Given the description of an element on the screen output the (x, y) to click on. 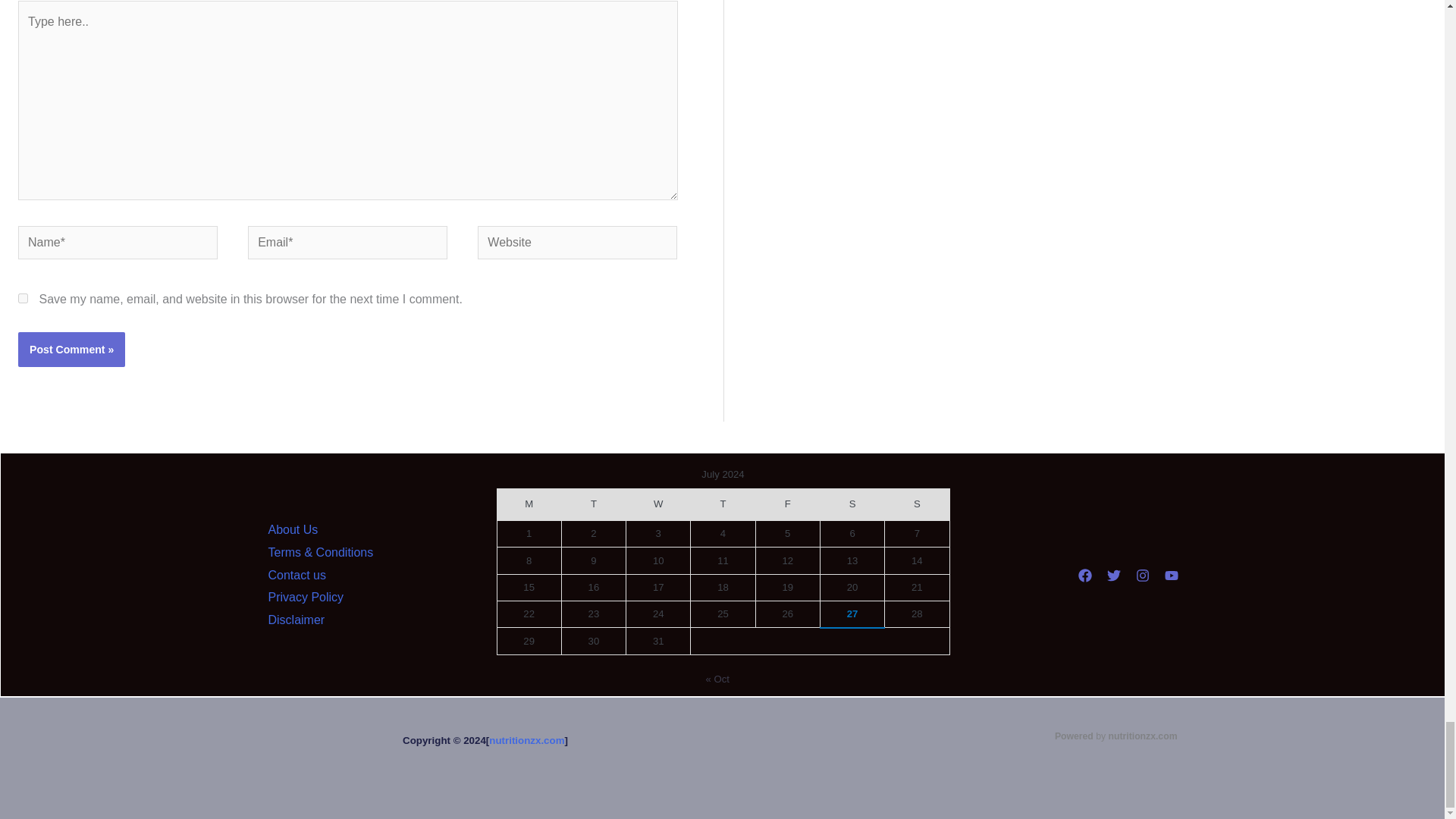
Monday (528, 504)
Tuesday (593, 504)
Thursday (722, 504)
Sunday (917, 504)
yes (22, 298)
Friday (787, 504)
Wednesday (658, 504)
Saturday (851, 504)
